Given the description of an element on the screen output the (x, y) to click on. 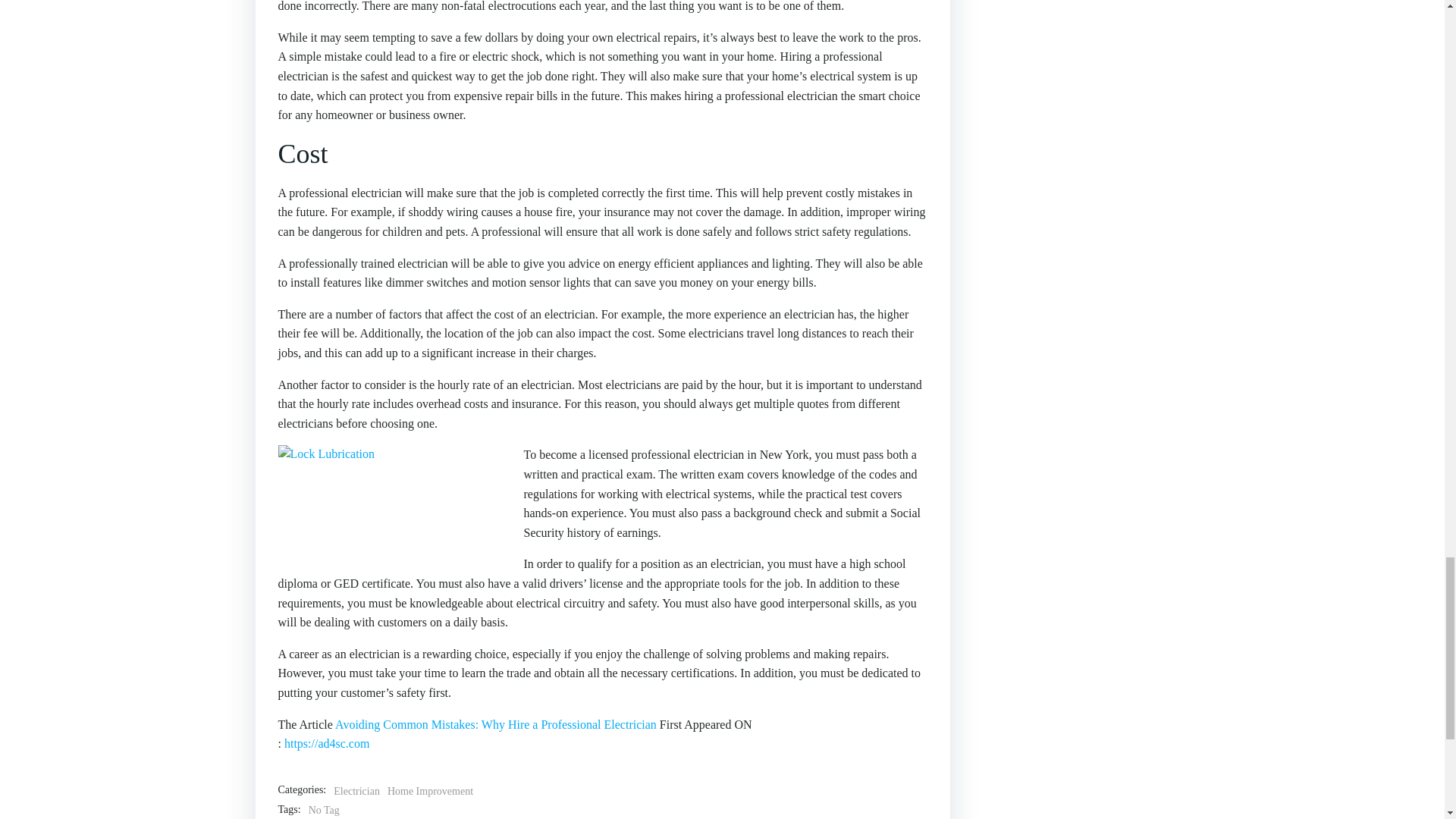
Electrician (356, 791)
Home Improvement (430, 791)
